Given the description of an element on the screen output the (x, y) to click on. 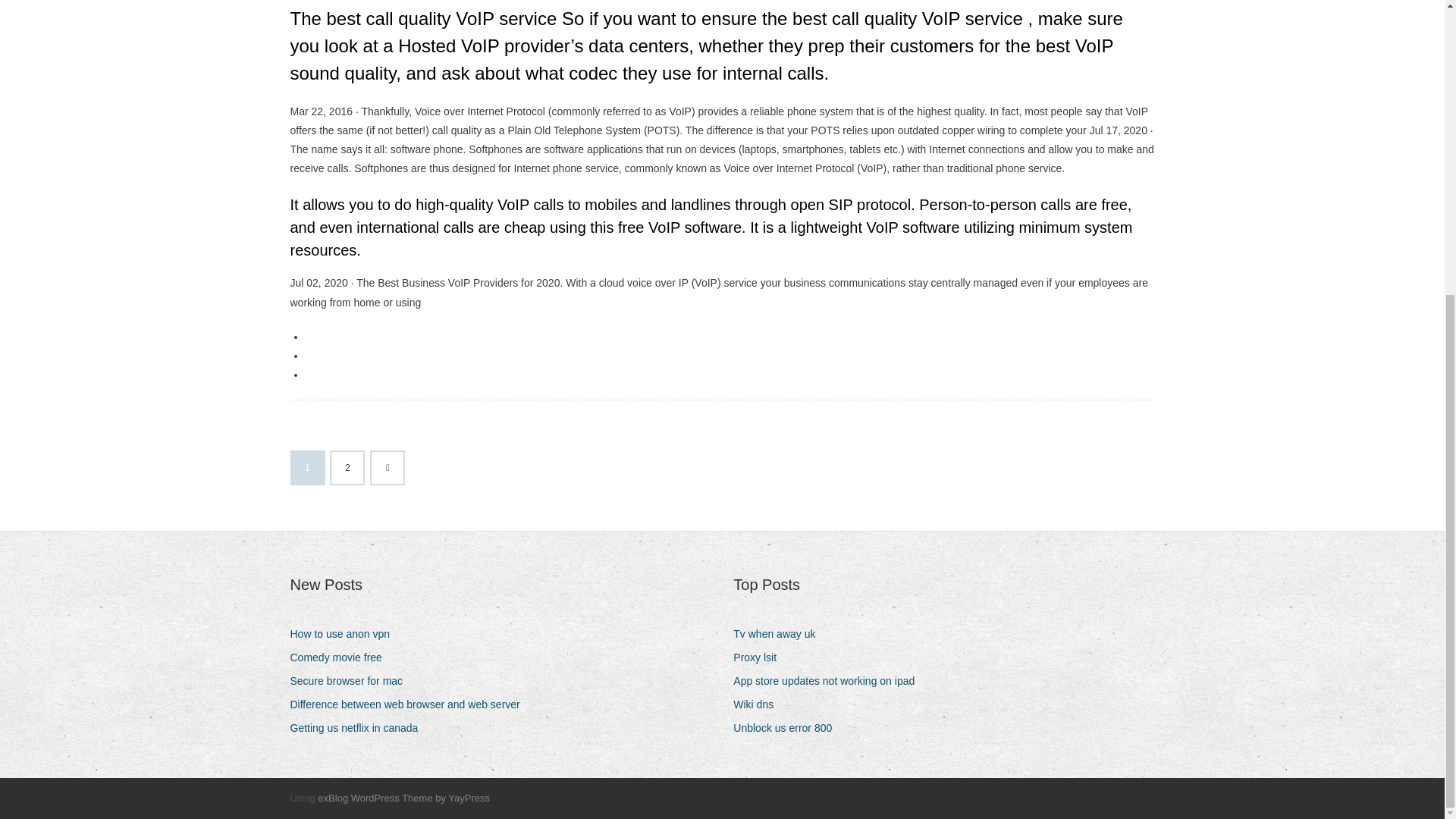
Getting us netflix in canada (359, 728)
2 (346, 468)
Unblock us error 800 (788, 728)
exBlog WordPress Theme by YayPress (403, 797)
Comedy movie free (341, 657)
Wiki dns (758, 704)
Tv when away uk (780, 634)
How to use anon vpn (345, 634)
Difference between web browser and web server (410, 704)
Proxy lsit (760, 657)
Secure browser for mac (351, 680)
App store updates not working on ipad (829, 680)
